Given the description of an element on the screen output the (x, y) to click on. 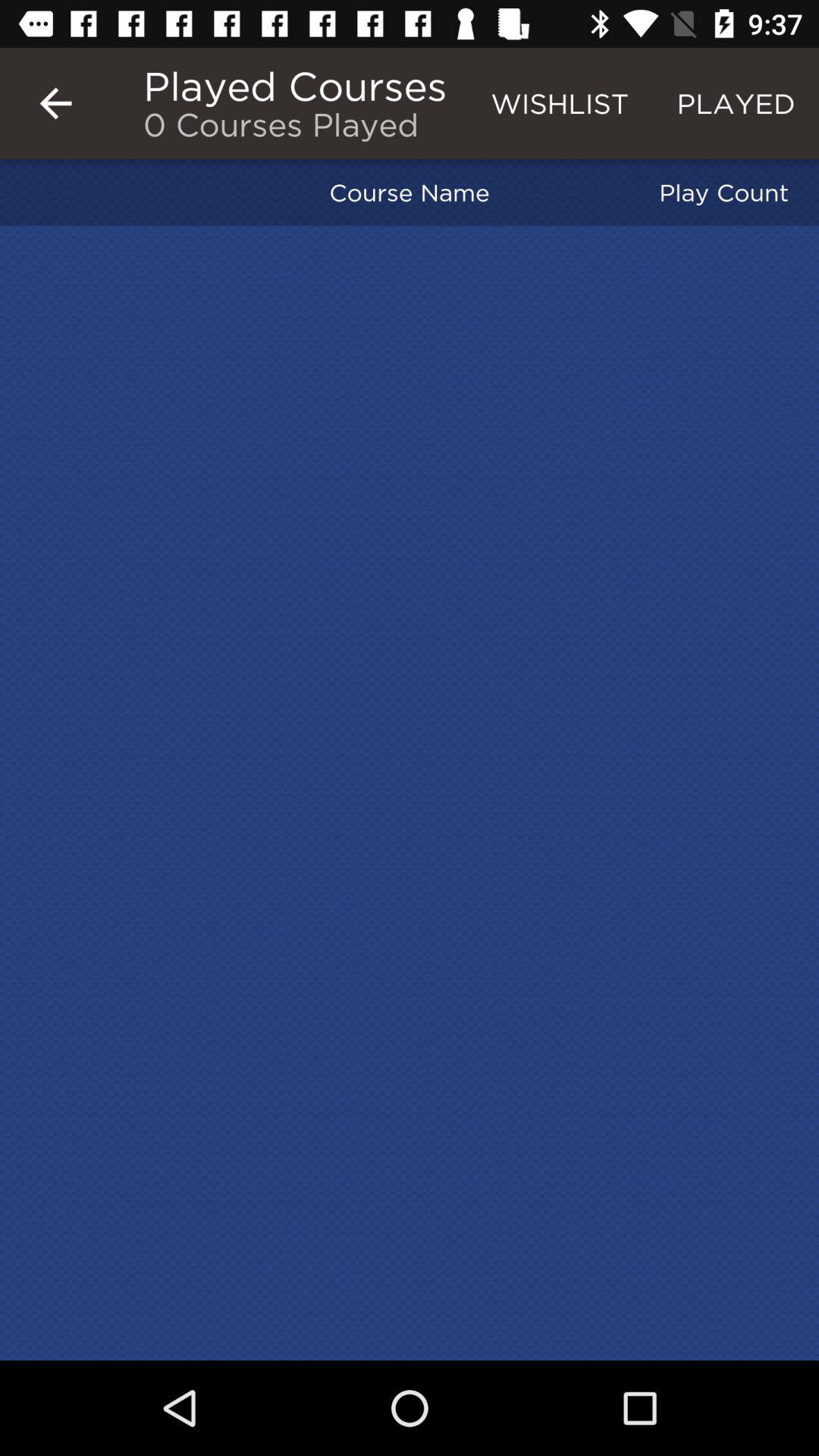
choose item at the top left corner (55, 103)
